Given the description of an element on the screen output the (x, y) to click on. 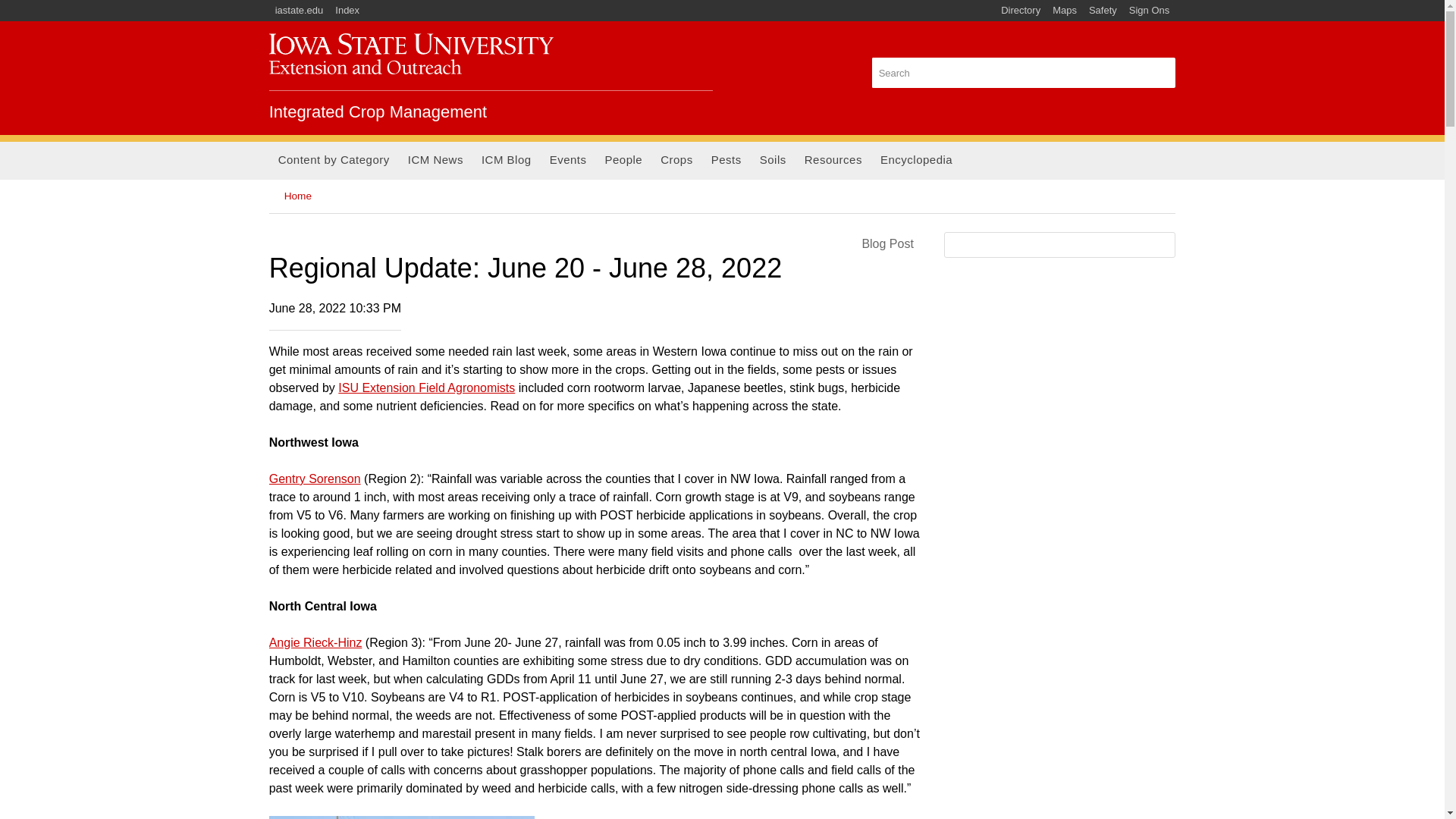
Directory (1020, 10)
iastate.edu (299, 10)
Home (377, 111)
Content by Category (333, 160)
Safety (1102, 10)
Iowa State University Home Page (299, 10)
Maps (1064, 10)
Skip to main content (685, 1)
Sign Ons (1148, 10)
